Given the description of an element on the screen output the (x, y) to click on. 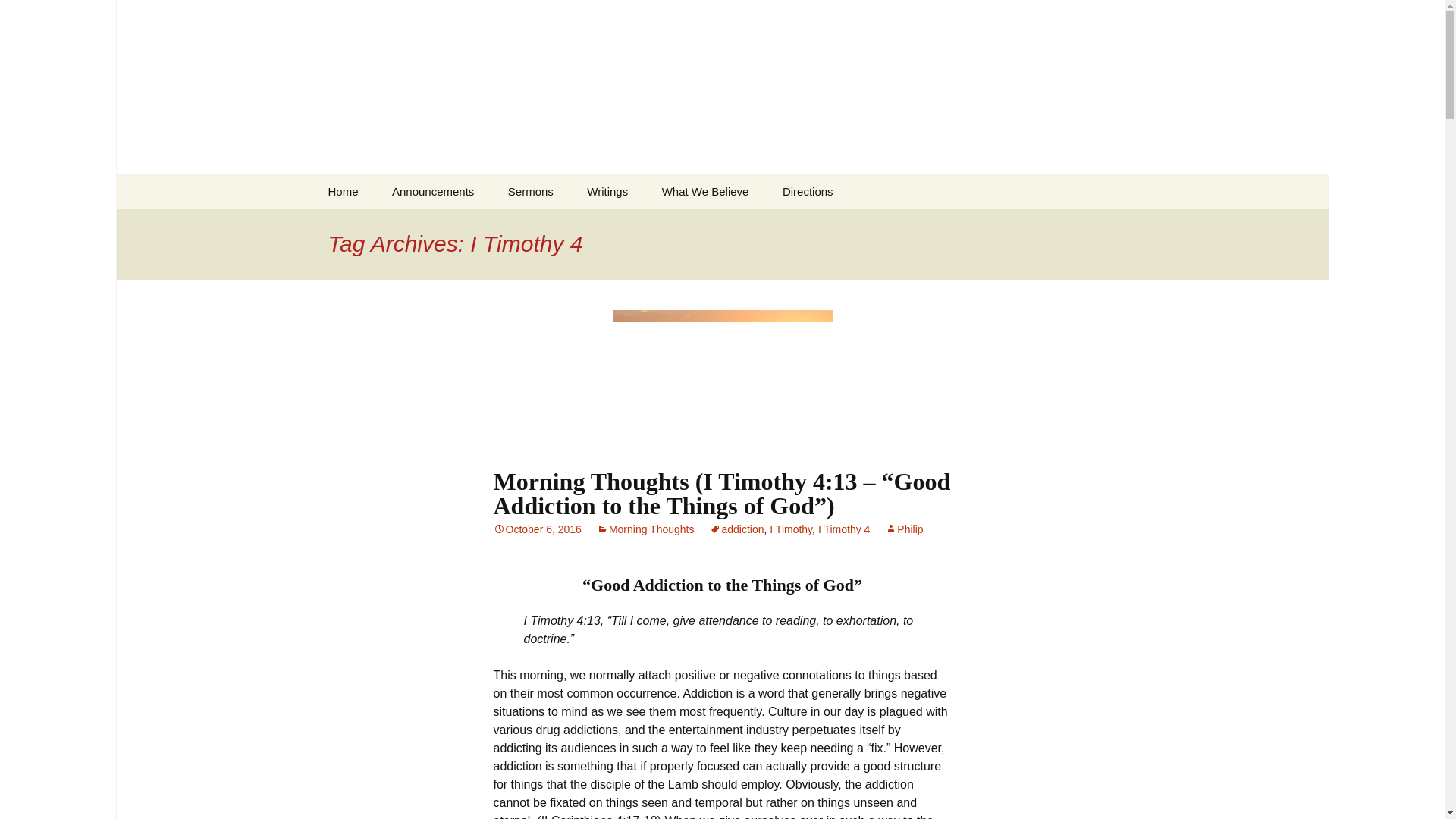
Writings (607, 191)
Morning Thoughts (645, 529)
addiction (737, 529)
What We Believe (705, 191)
View all posts by Philip (904, 529)
I Timothy 4 (843, 529)
Directions (807, 191)
Home (342, 191)
Announcements (433, 191)
